Given the description of an element on the screen output the (x, y) to click on. 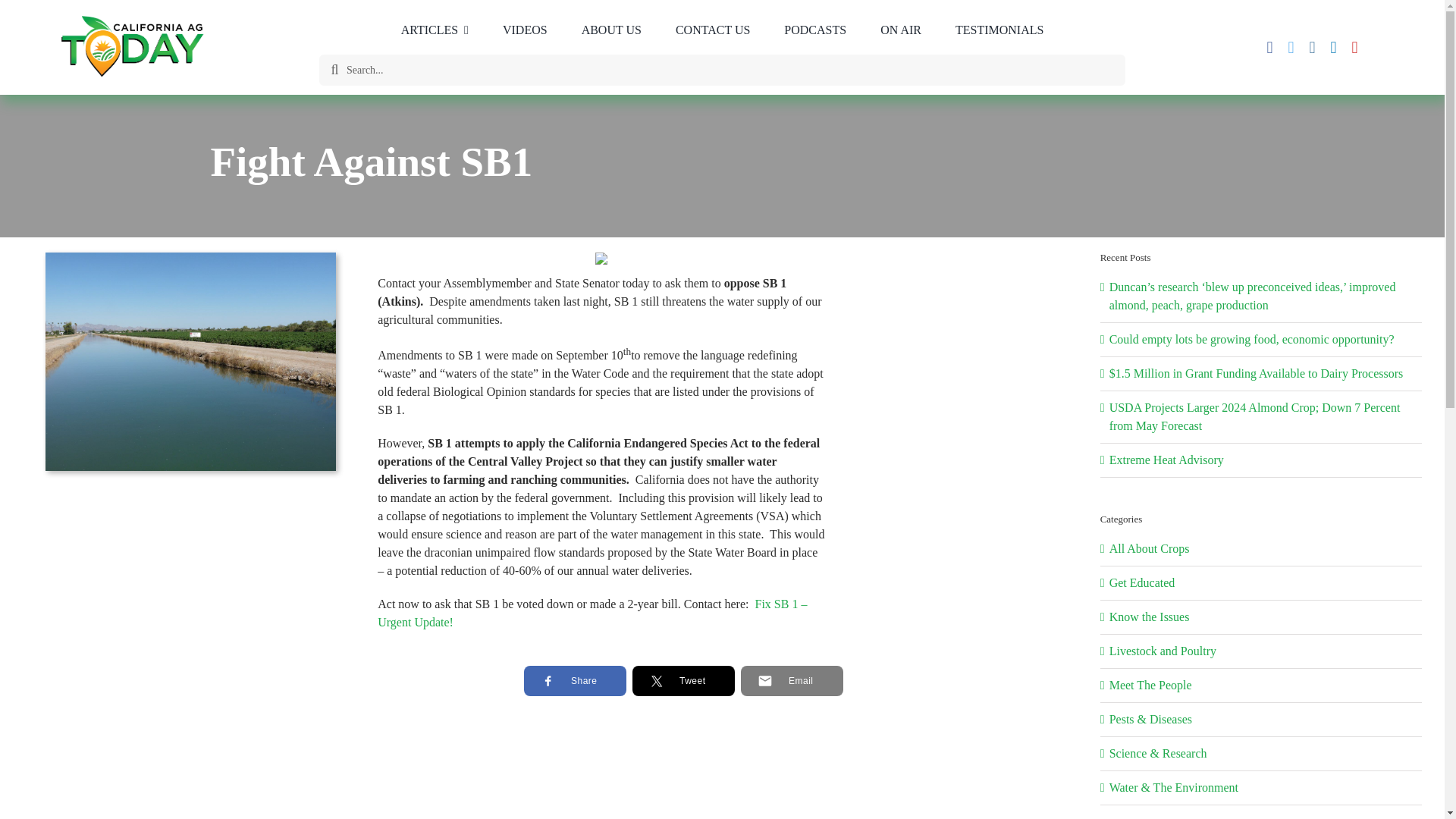
CONTACT US (713, 30)
TESTIMONIALS (999, 30)
Canal near Los Banos (190, 361)
PODCASTS (814, 30)
ON AIR (900, 30)
ABOUT US (611, 30)
VIDEOS (524, 30)
ARTICLES (434, 30)
